Given the description of an element on the screen output the (x, y) to click on. 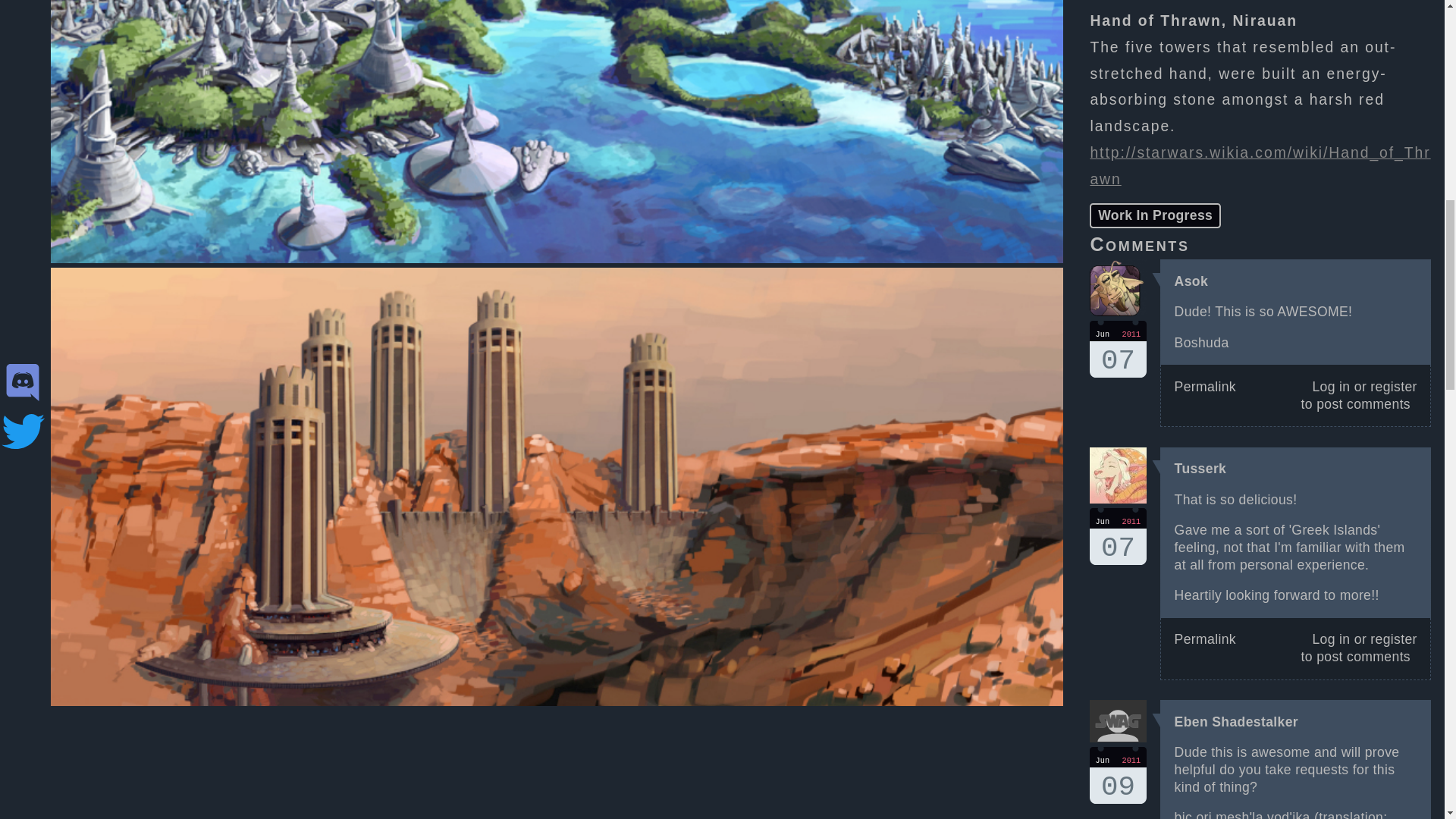
View user profile. (1191, 281)
Permalink (1118, 774)
Permalink (1205, 386)
register (1205, 639)
Log in (1118, 536)
Work In Progress (1393, 639)
Log in (1330, 639)
